Given the description of an element on the screen output the (x, y) to click on. 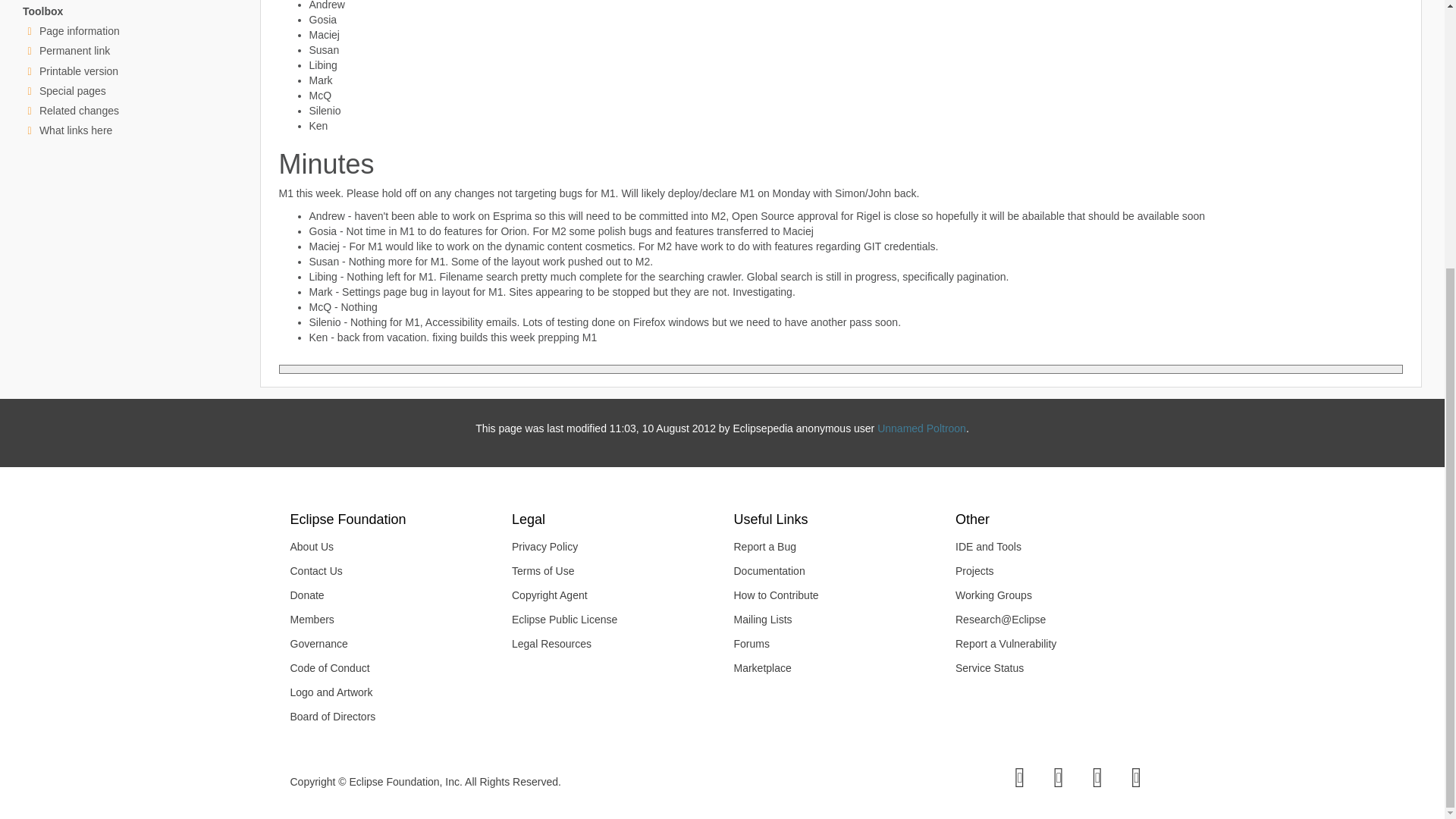
More information about this page (79, 30)
Permanent link to this revision of the page (74, 50)
